Given the description of an element on the screen output the (x, y) to click on. 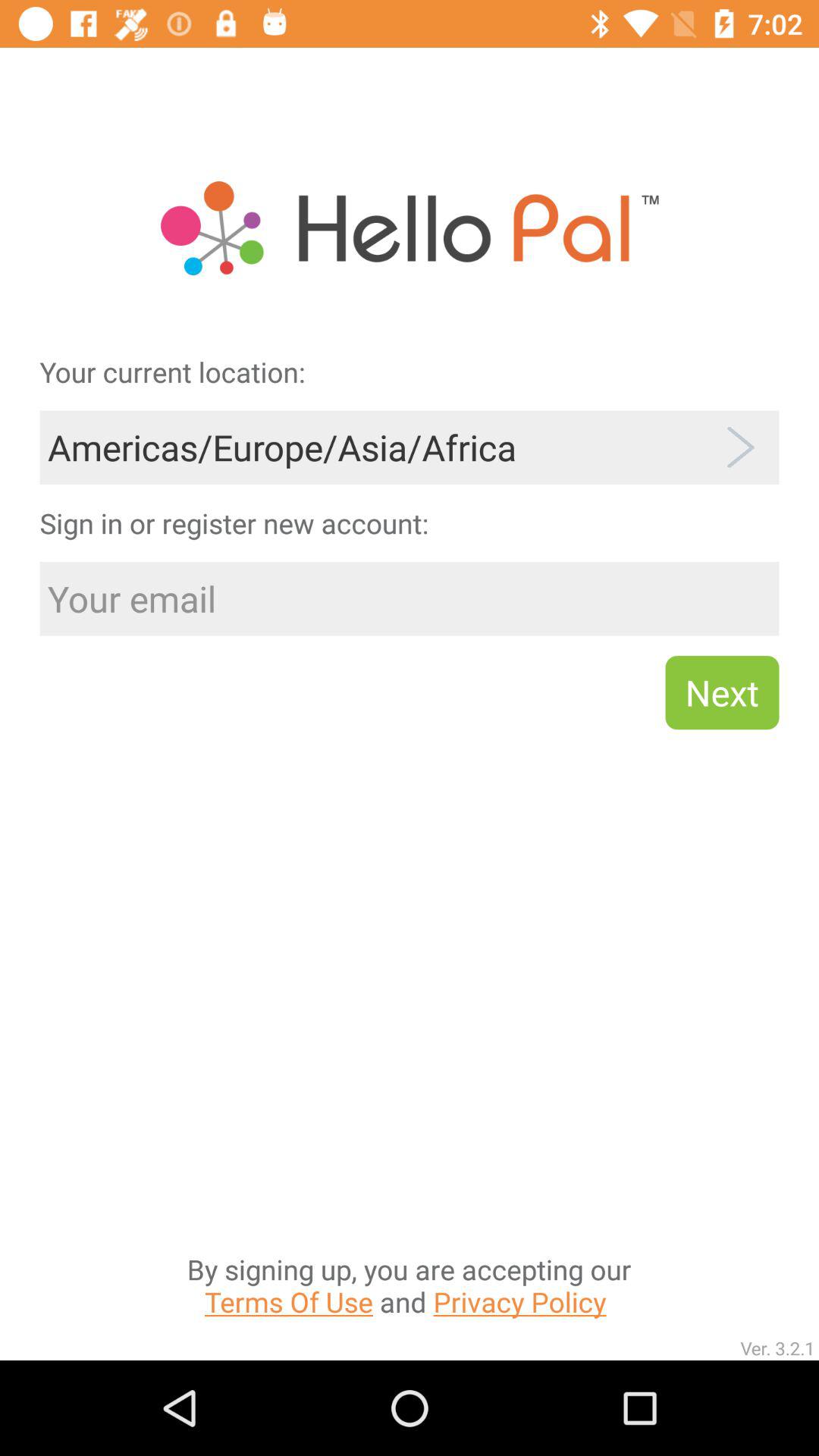
launch the item above the by signing up (722, 692)
